Given the description of an element on the screen output the (x, y) to click on. 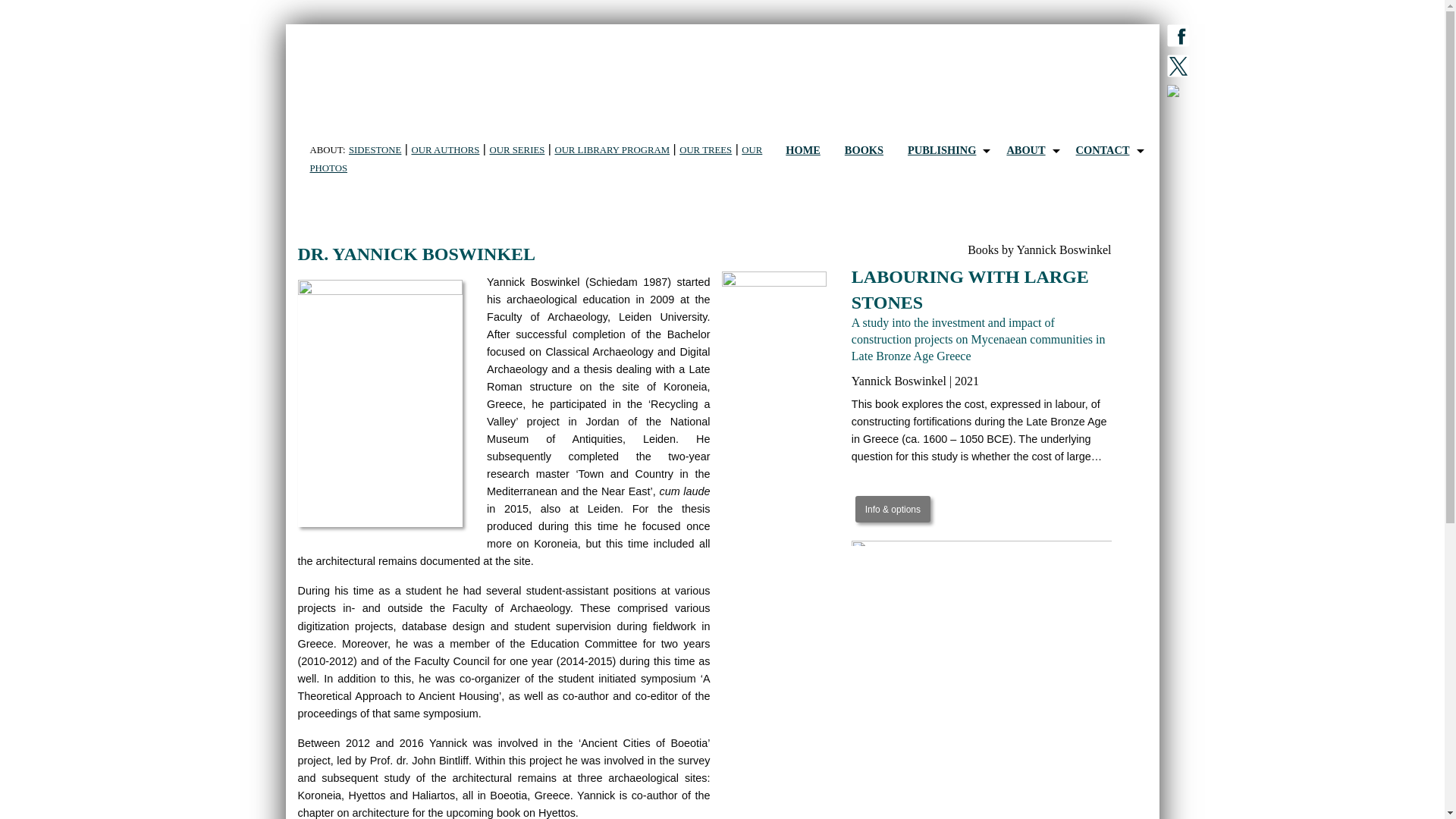
HOME (802, 150)
Follow us on Instagram (1177, 92)
Like us on facebook (1177, 38)
OUR LIBRARY PROGRAM (611, 149)
ABOUT (1028, 150)
PUBLISHING (944, 150)
BOOKS (863, 150)
OUR PHOTOS (534, 158)
OUR TREES (705, 149)
CONTACT (1106, 150)
